Given the description of an element on the screen output the (x, y) to click on. 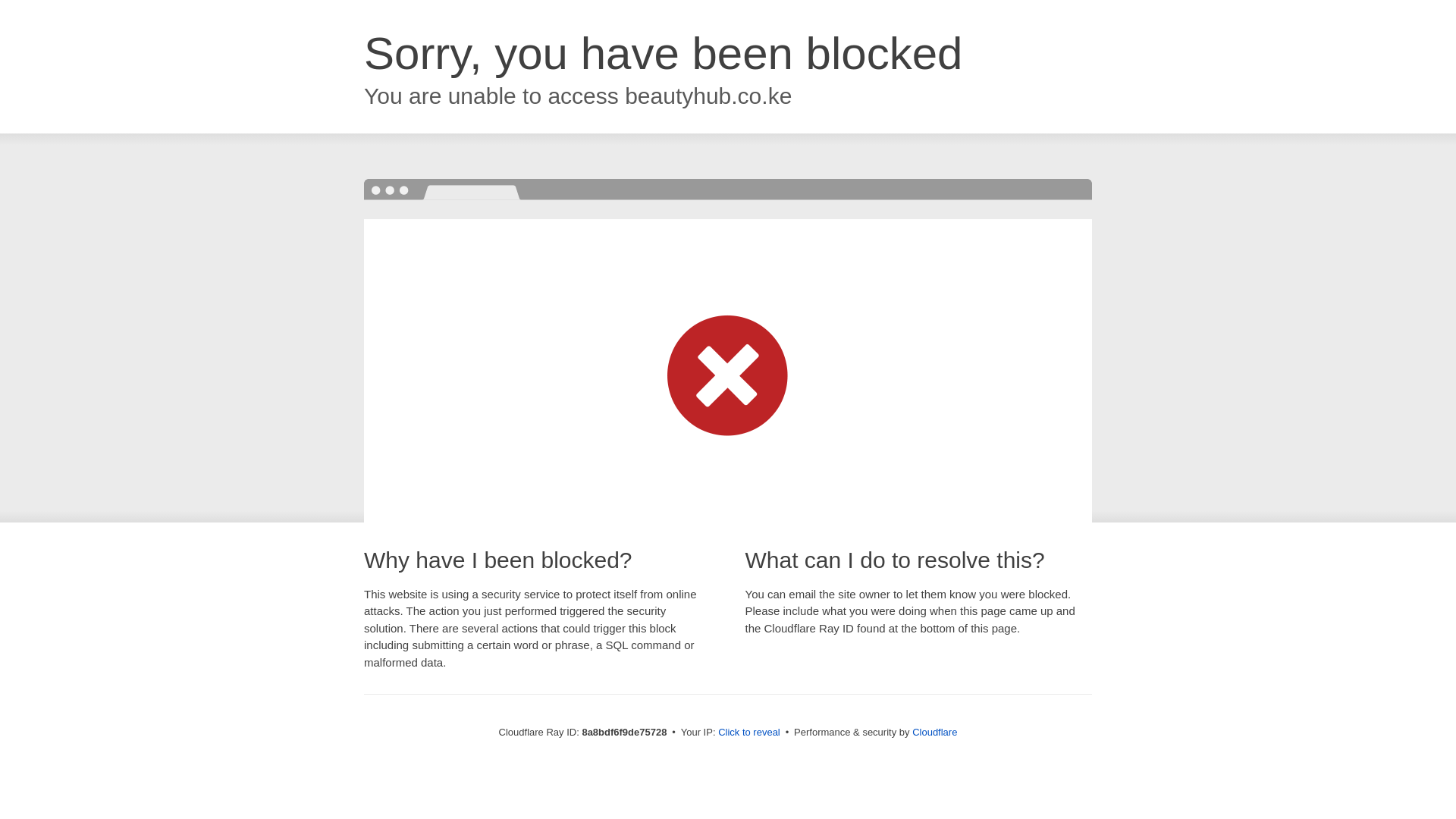
Click to reveal (748, 732)
Cloudflare (934, 731)
